Given the description of an element on the screen output the (x, y) to click on. 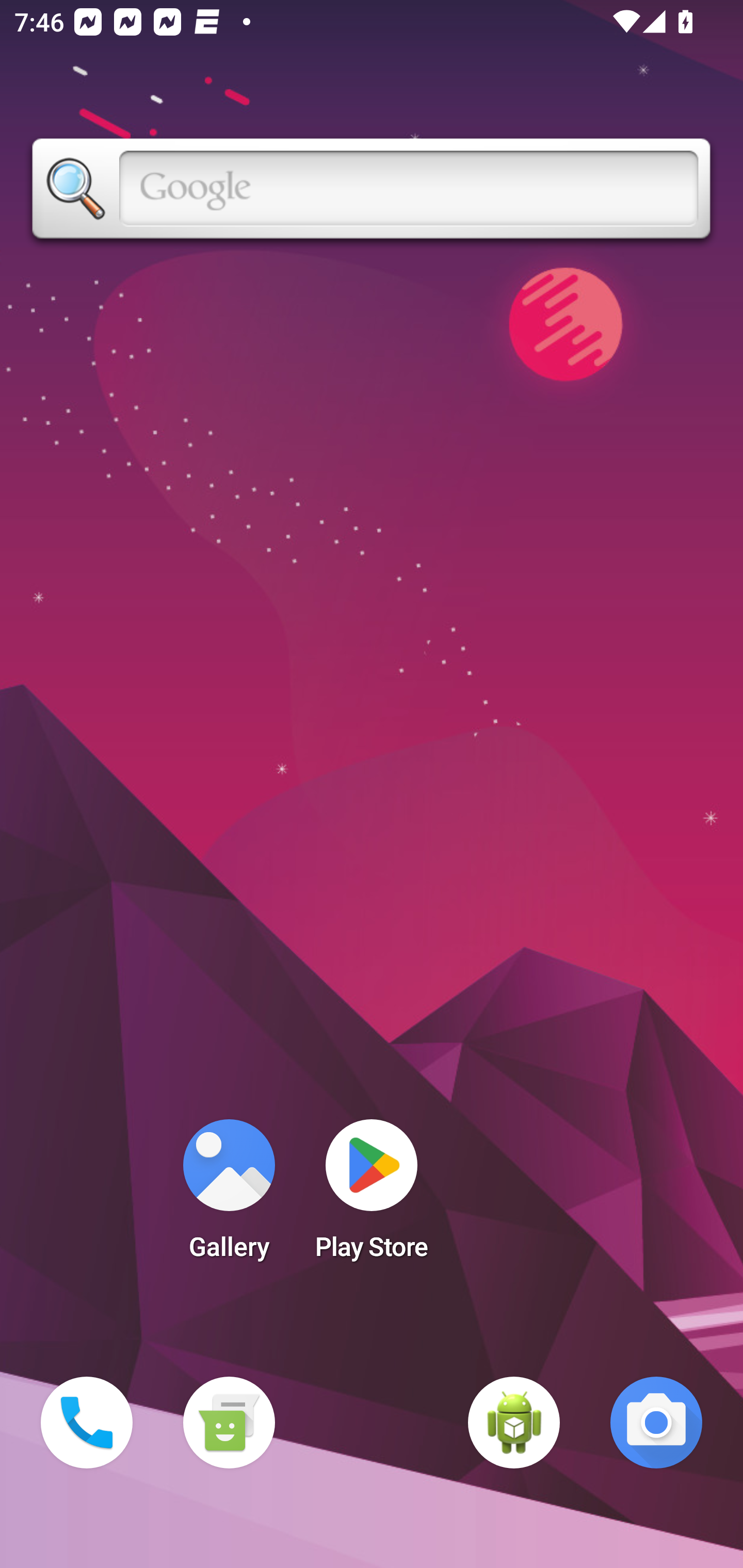
Gallery (228, 1195)
Play Store (371, 1195)
Phone (86, 1422)
Messaging (228, 1422)
WebView Browser Tester (513, 1422)
Camera (656, 1422)
